Given the description of an element on the screen output the (x, y) to click on. 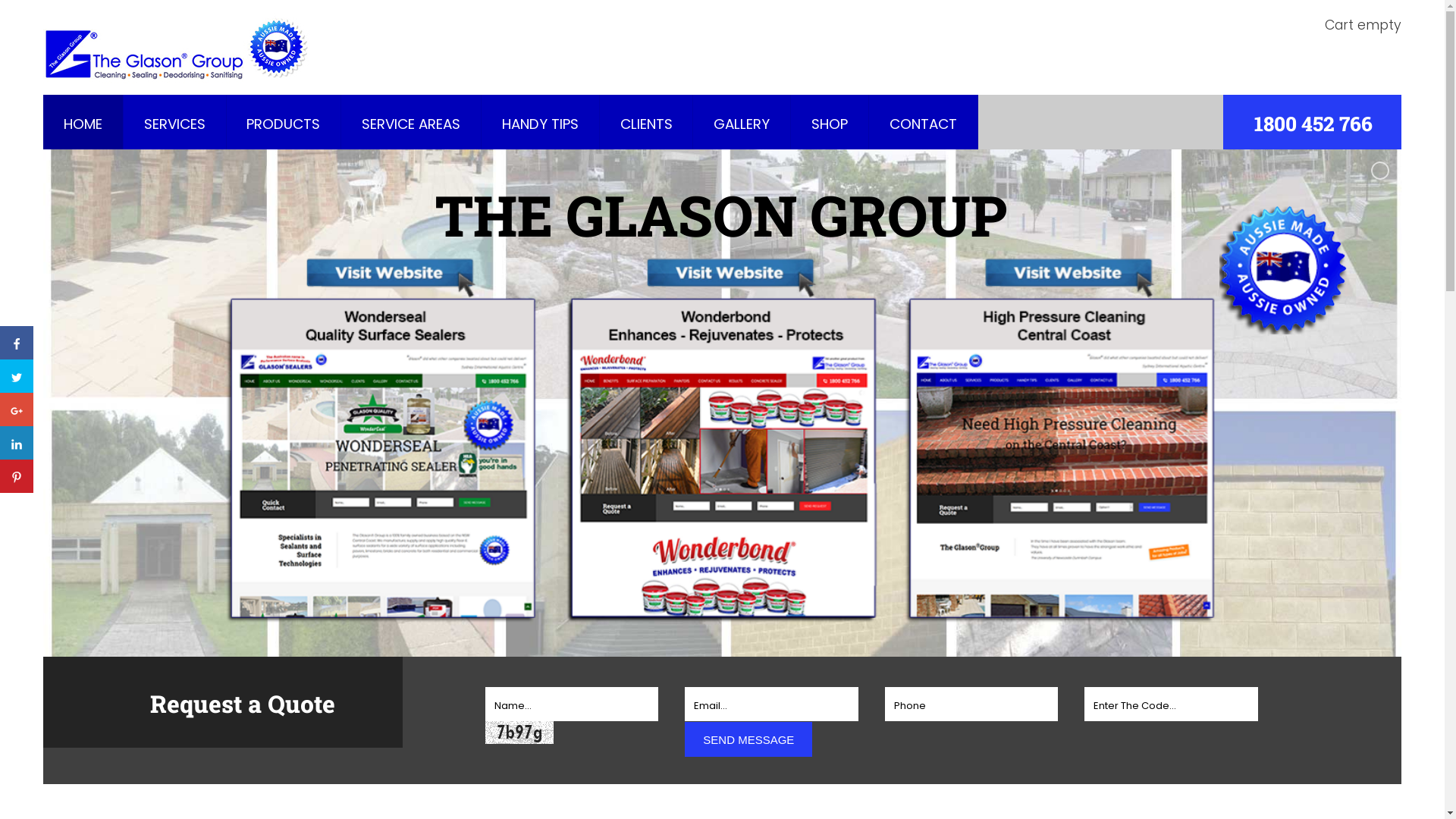
CONTACT Element type: text (923, 123)
PRODUCTS Element type: text (283, 123)
HANDY TIPS Element type: text (540, 123)
CLIENTS Element type: text (646, 123)
PRODUCTS Element type: text (283, 123)
SERVICE AREAS Element type: text (410, 123)
CONTACT Element type: text (923, 123)
SERVICE AREAS Element type: text (410, 123)
SERVICES Element type: text (174, 123)
SHOP Element type: text (829, 123)
SHOP Element type: text (829, 123)
HANDY TIPS Element type: text (540, 123)
SEND MESSAGE Element type: text (748, 738)
CLIENTS Element type: text (646, 123)
GALLERY Element type: text (741, 123)
HOME Element type: text (82, 123)
1800 452 766 Element type: text (1313, 122)
HOME Element type: text (82, 123)
SERVICES Element type: text (174, 123)
GALLERY Element type: text (741, 123)
